Given the description of an element on the screen output the (x, y) to click on. 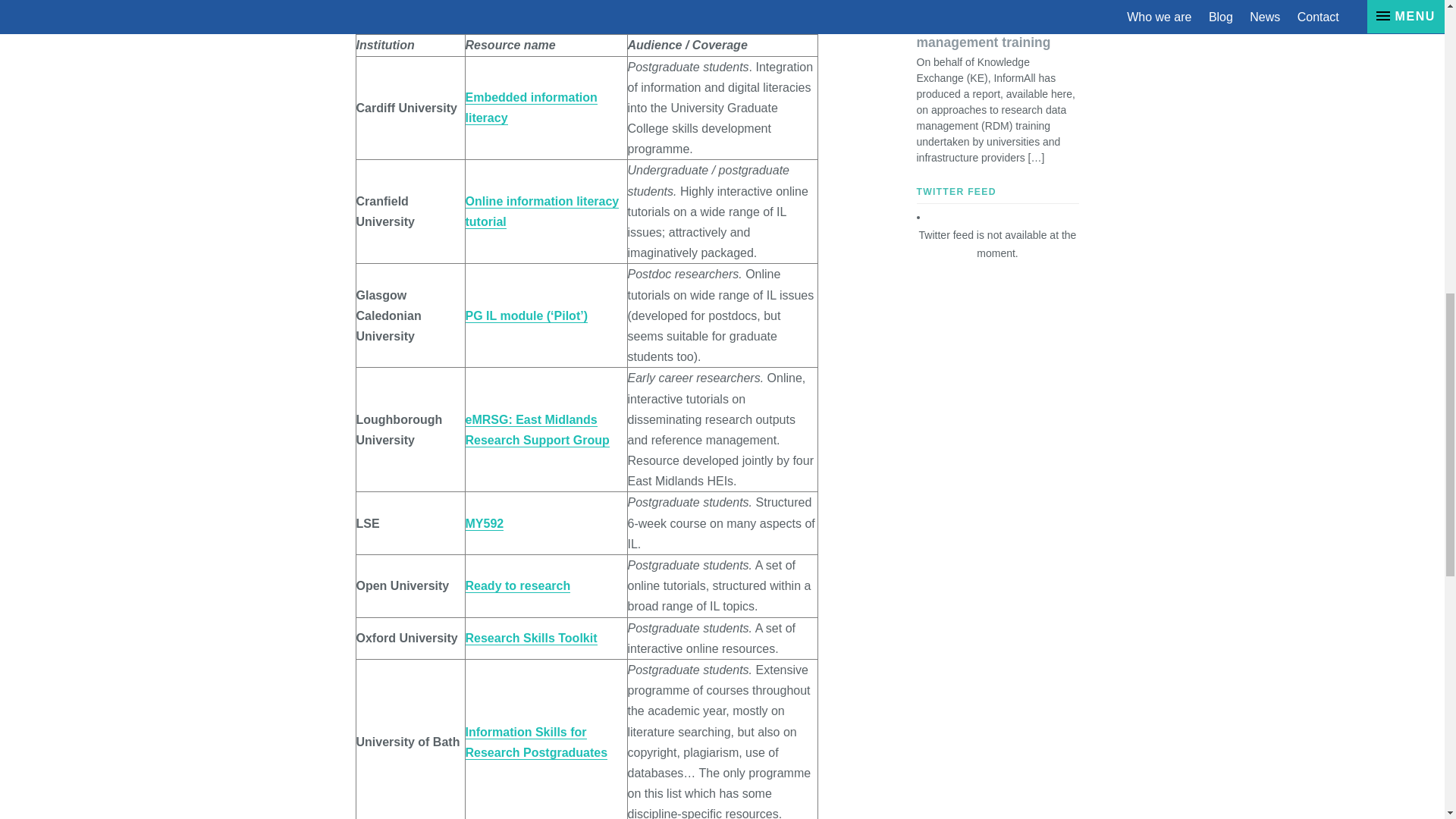
Research data management training (996, 91)
